Given the description of an element on the screen output the (x, y) to click on. 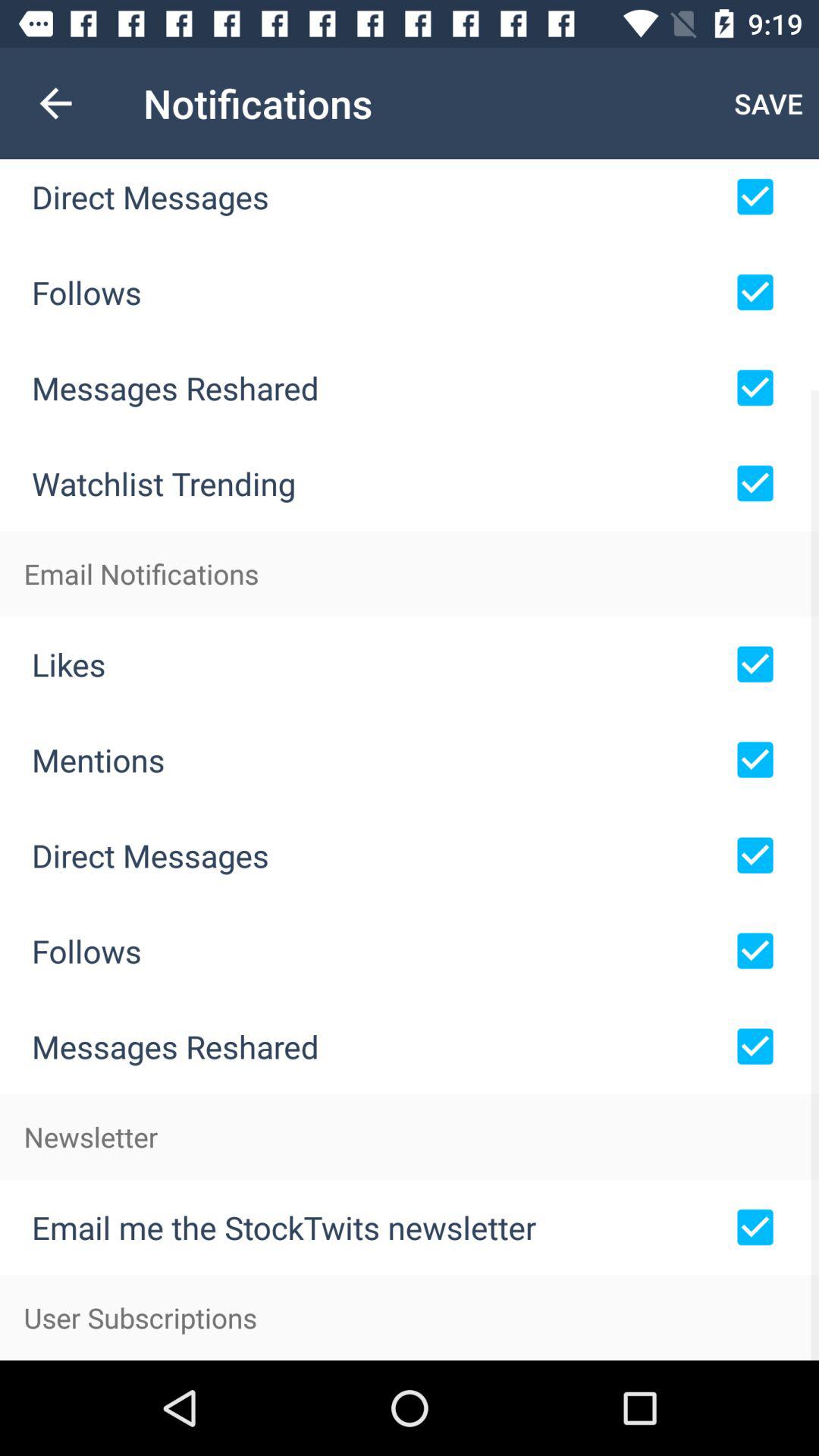
select checkbox which is after follows (755, 292)
click on the box which is right hand side of  the text mentions (755, 760)
